Given the description of an element on the screen output the (x, y) to click on. 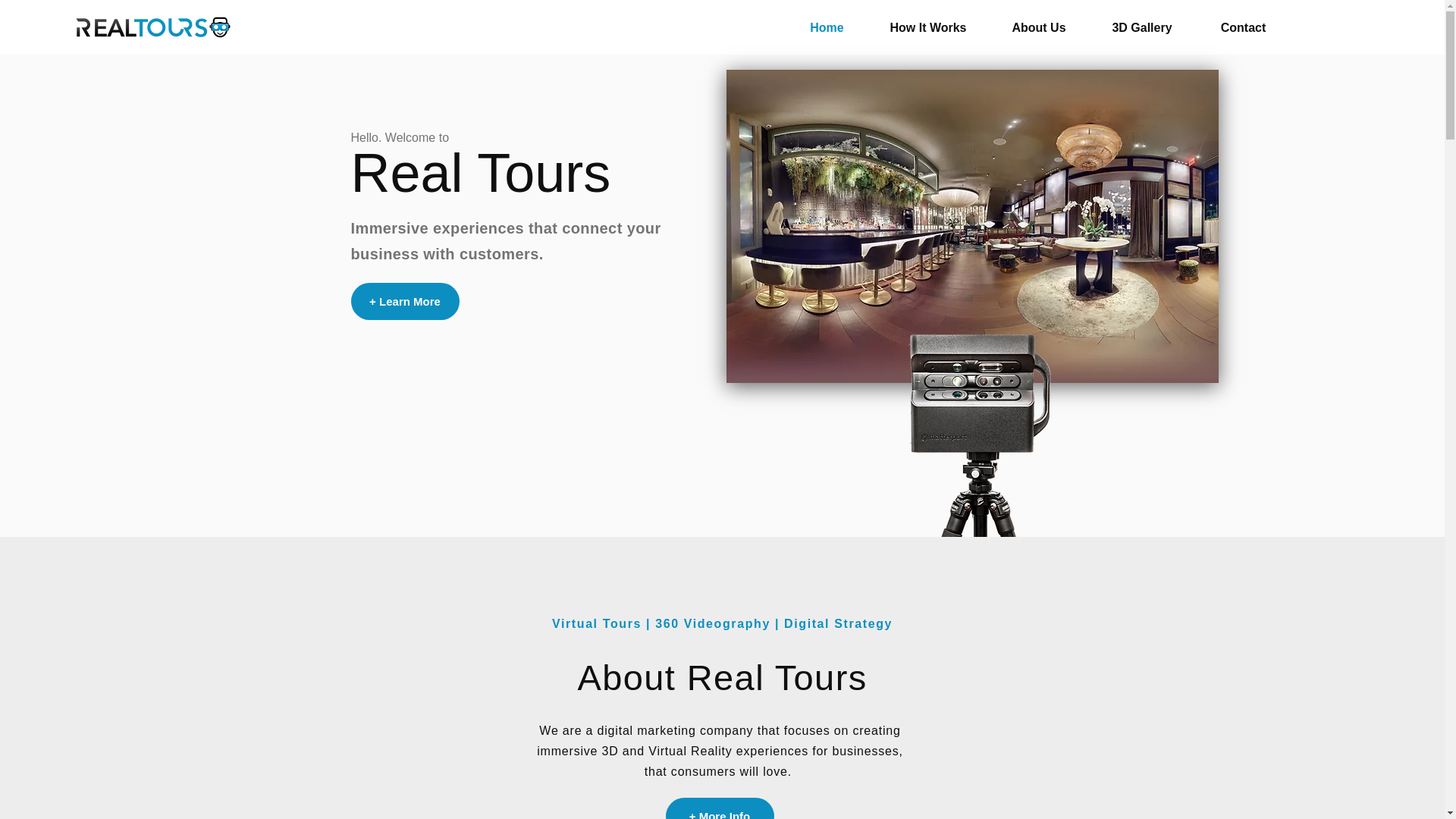
3D Gallery (1142, 27)
Home (826, 27)
How It Works (927, 27)
Contact (1243, 27)
About Us (1038, 27)
